Given the description of an element on the screen output the (x, y) to click on. 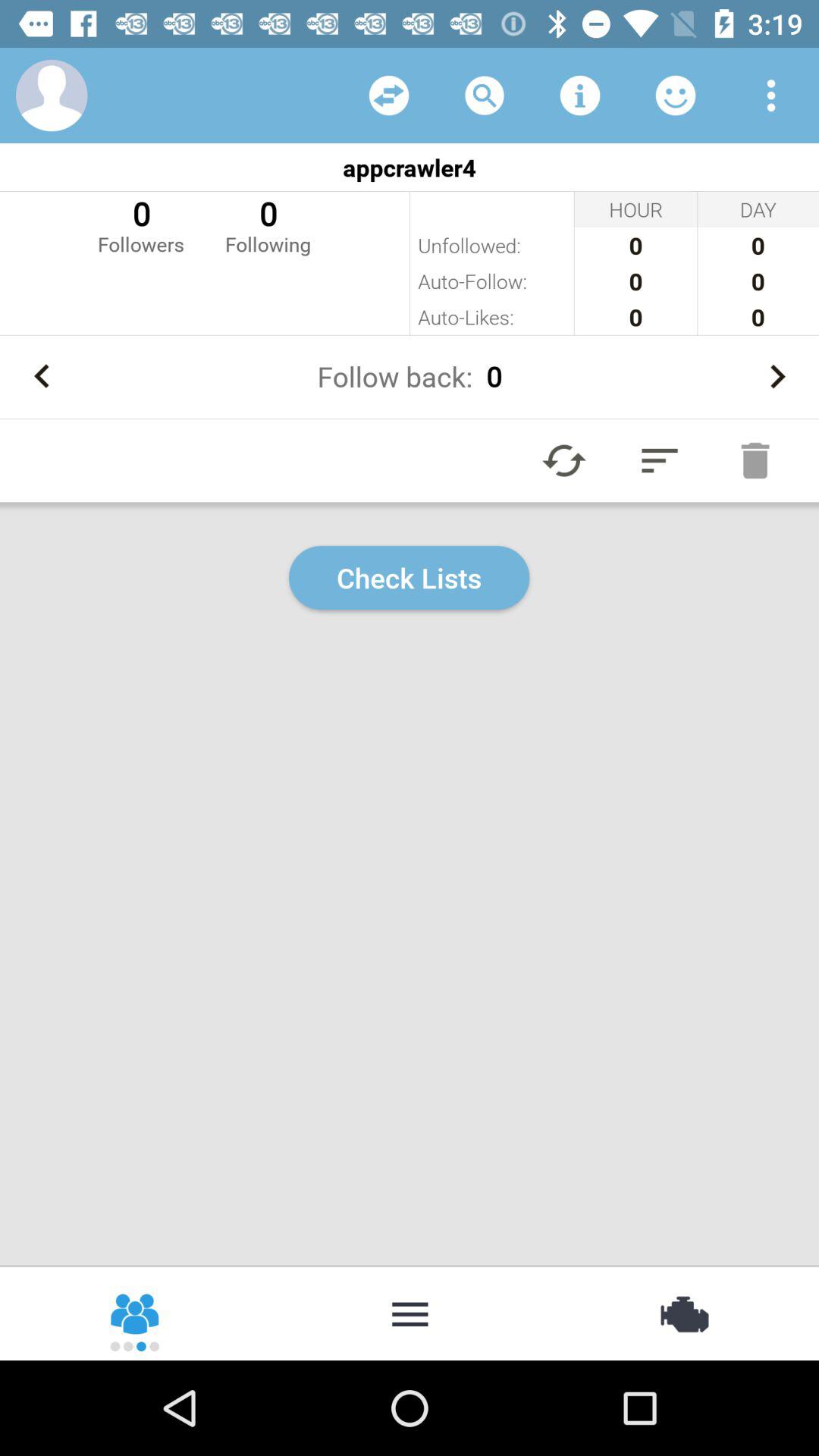
delete item (755, 460)
